Given the description of an element on the screen output the (x, y) to click on. 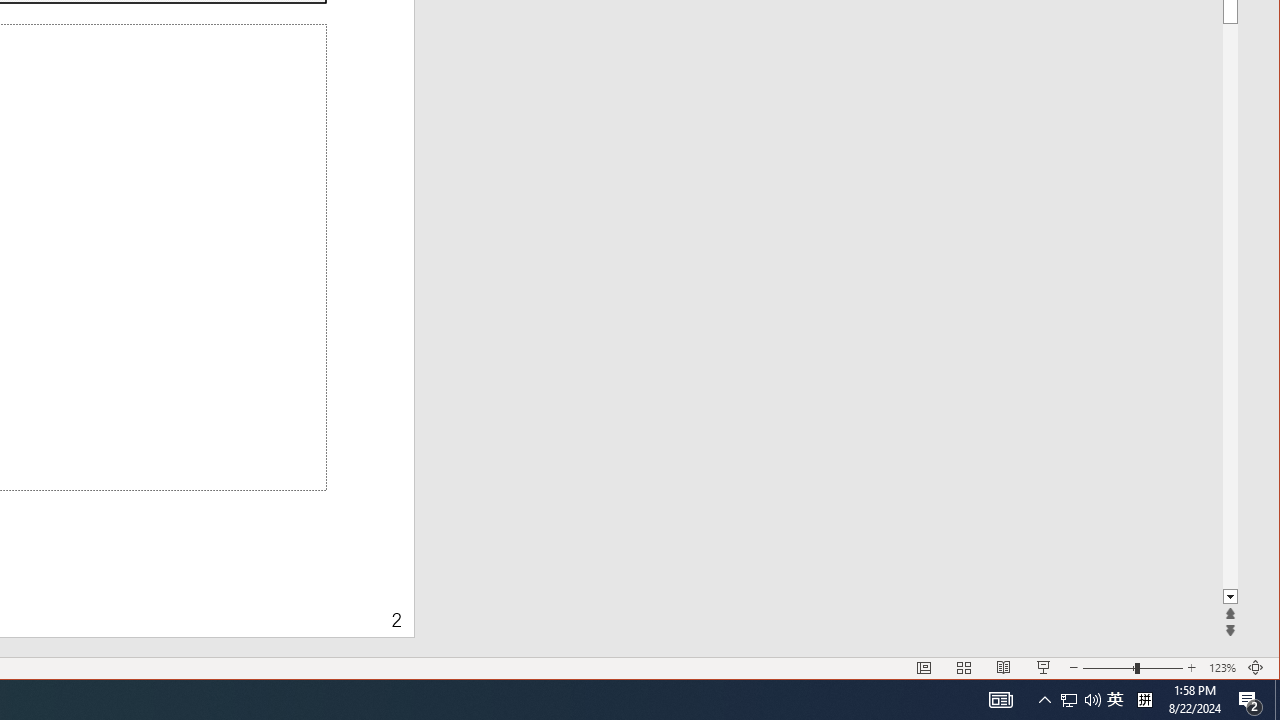
Zoom 123% (1222, 668)
